Given the description of an element on the screen output the (x, y) to click on. 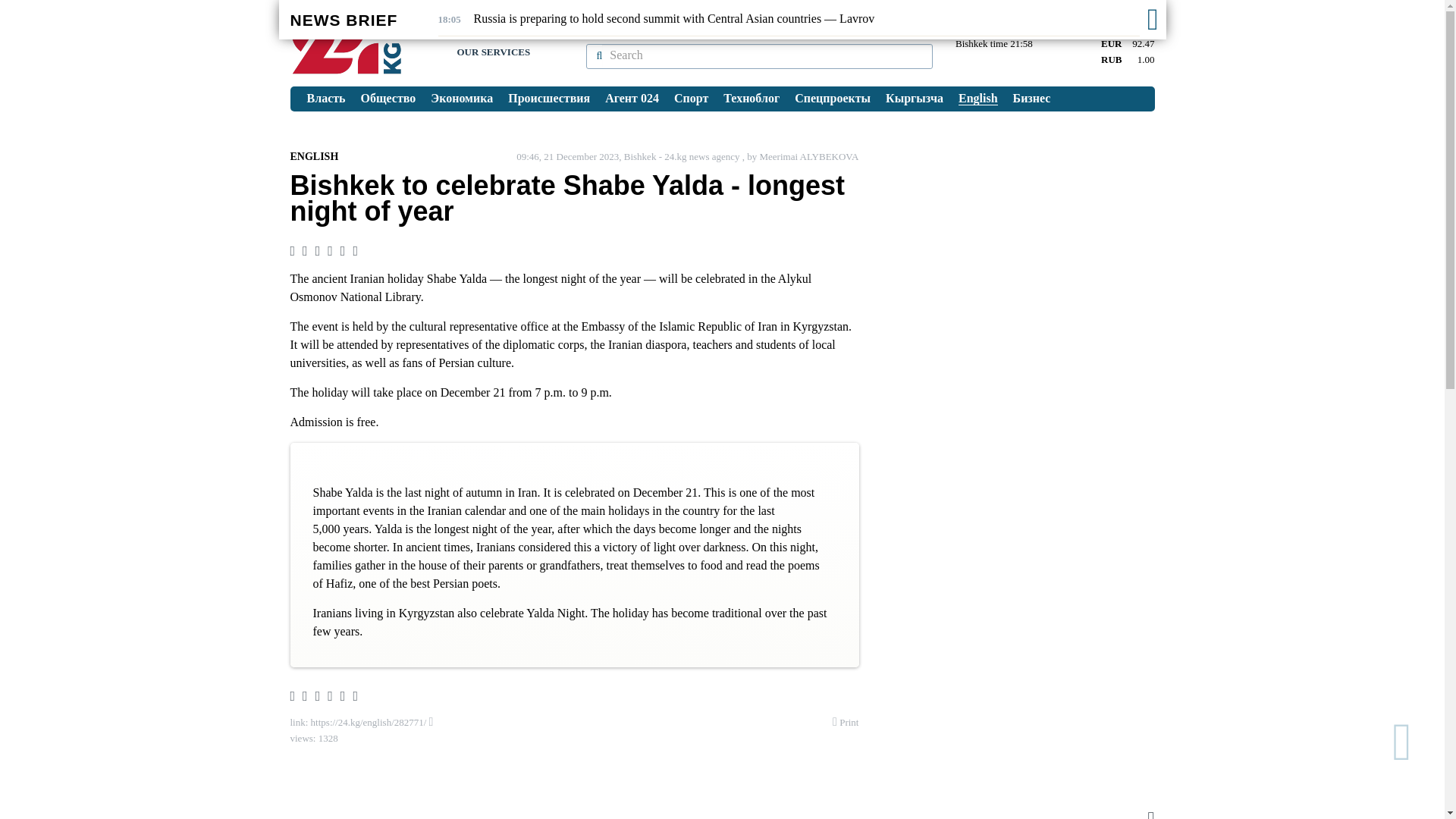
ENGLISH (313, 156)
English (978, 98)
OUR SERVICES (493, 51)
